Given the description of an element on the screen output the (x, y) to click on. 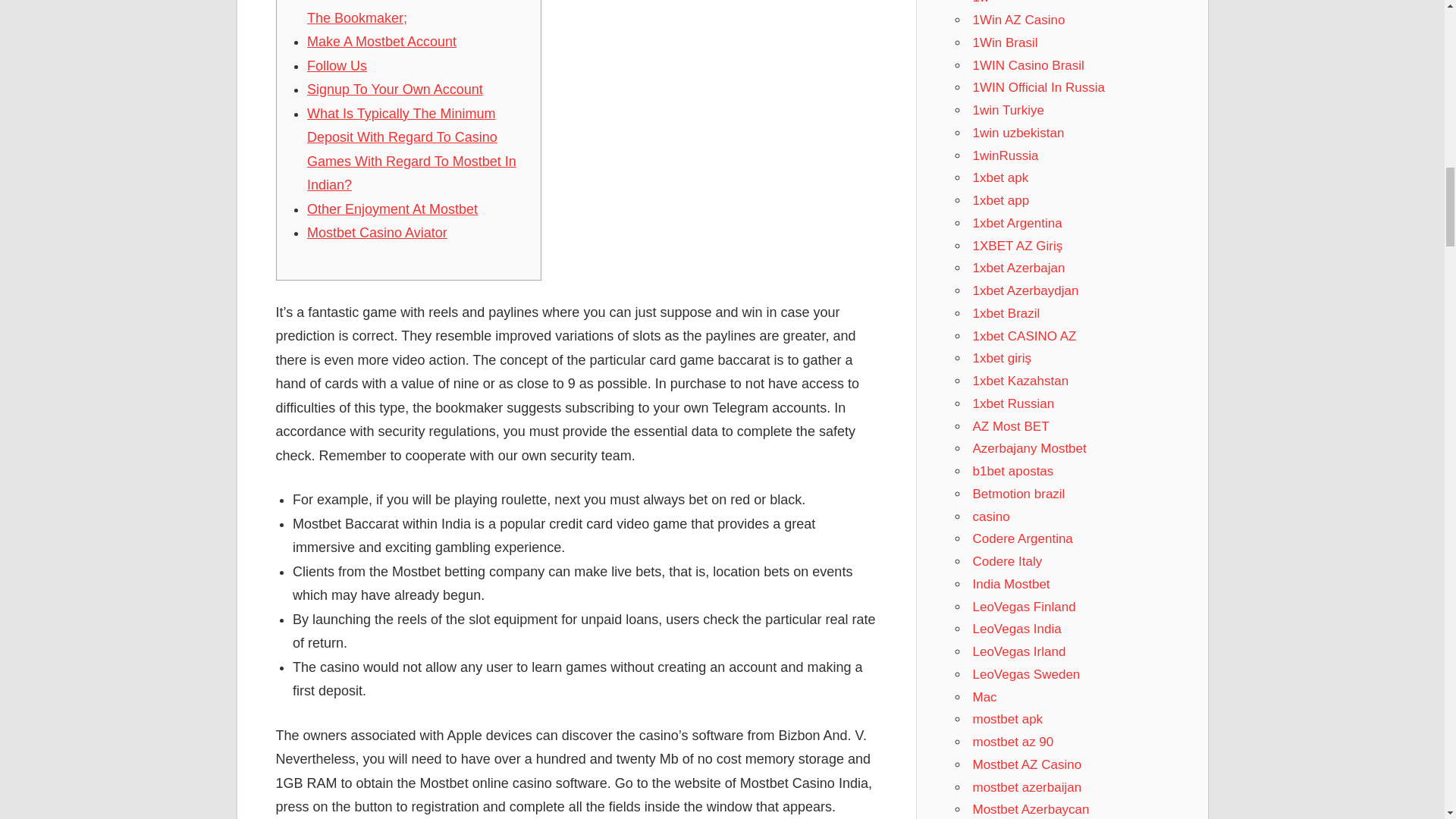
Follow Us (336, 65)
Signup To Your Own Account (395, 89)
Make A Mostbet Account (382, 41)
Other Enjoyment At Mostbet (392, 209)
Mostbet Casino Aviator (376, 232)
